Given the description of an element on the screen output the (x, y) to click on. 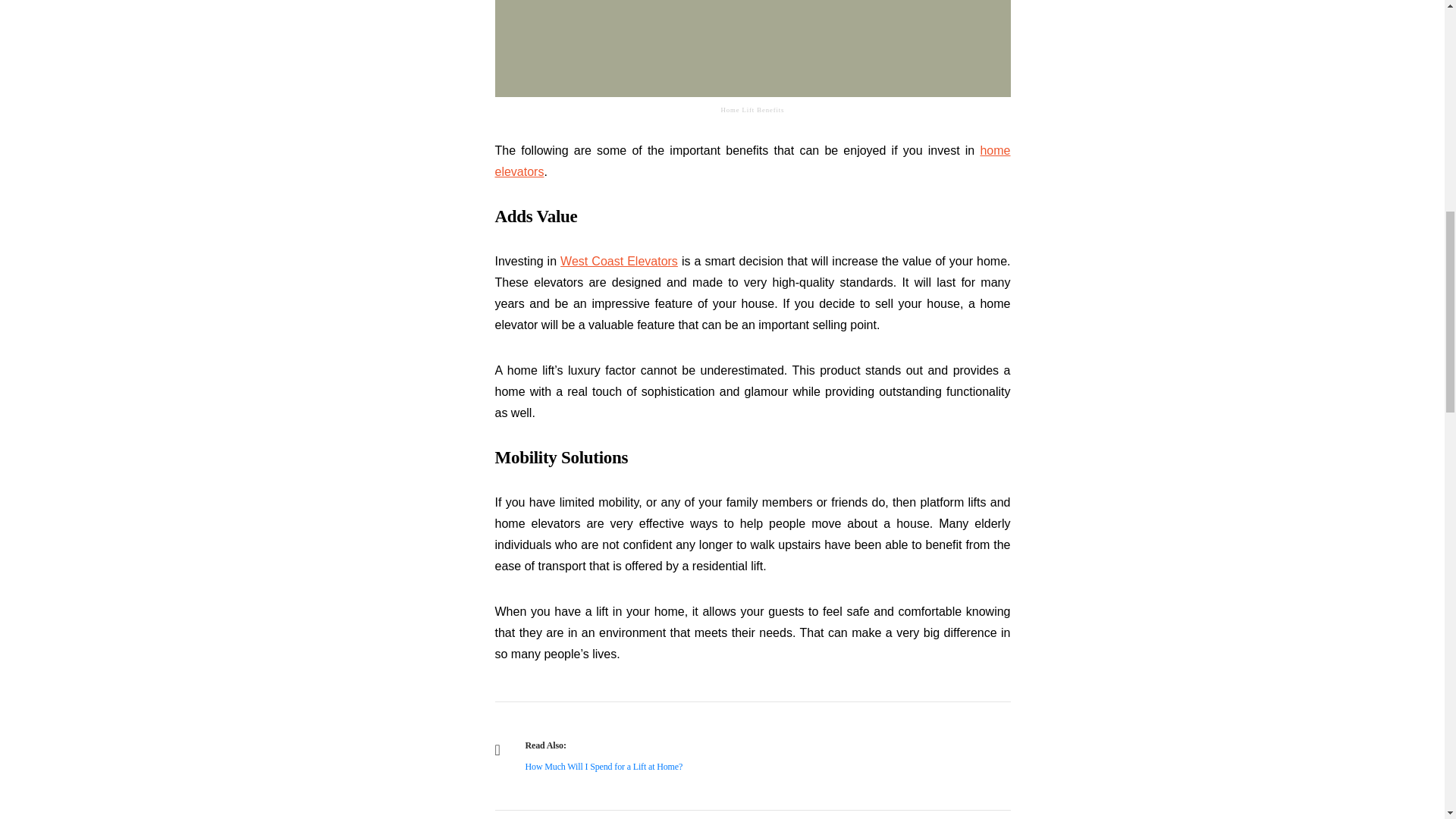
Home Lift Benefits (752, 48)
